Given the description of an element on the screen output the (x, y) to click on. 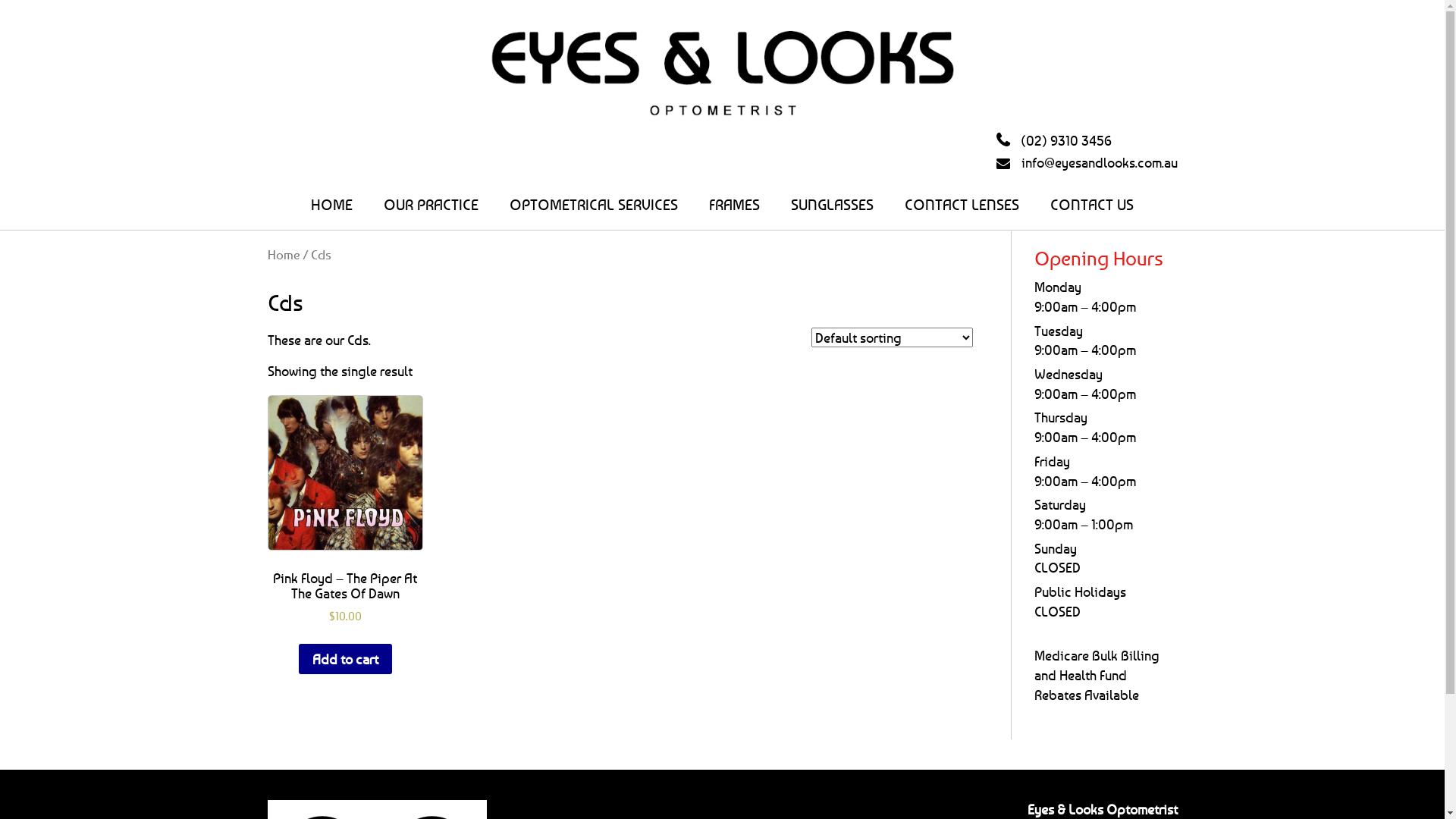
Add to cart Element type: text (345, 658)
Home Element type: text (282, 254)
OPTOMETRICAL SERVICES Element type: text (593, 204)
FRAMES Element type: text (734, 204)
info@eyesandlooks.com.au Element type: text (1086, 162)
OUR PRACTICE Element type: text (430, 204)
HOME Element type: text (331, 204)
CONTACT US Element type: text (1091, 204)
(02) 9310 3456 Element type: text (1053, 140)
CONTACT LENSES Element type: text (961, 204)
SUNGLASSES Element type: text (831, 204)
